Given the description of an element on the screen output the (x, y) to click on. 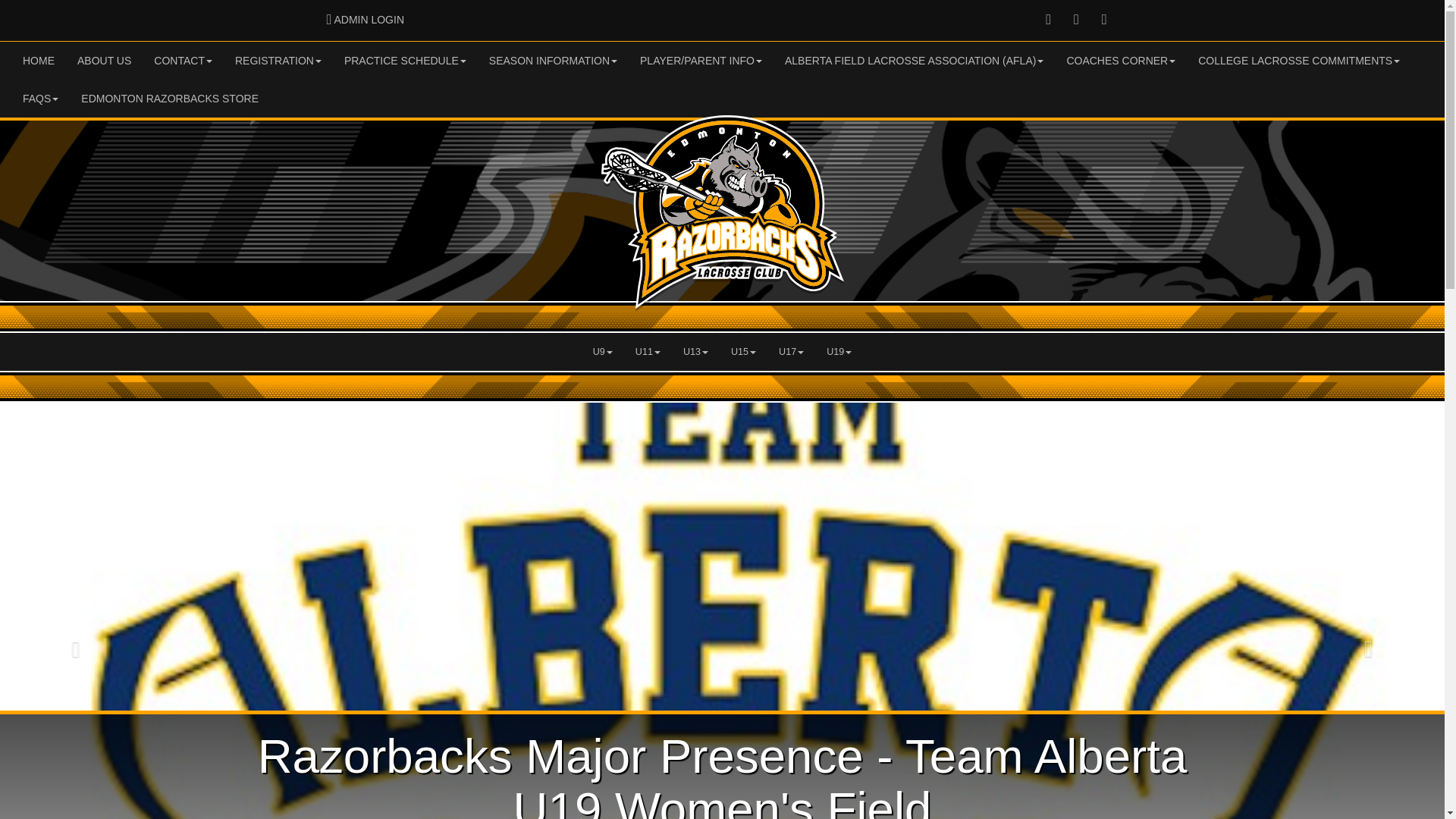
COACHES CORNER (1120, 60)
Facebook (365, 20)
REGISTRATION (1048, 20)
CONTACT (278, 60)
Twitter (183, 60)
ABOUT US (1076, 20)
PRACTICE SCHEDULE (103, 60)
HOME (405, 60)
Instagram (38, 60)
SEASON INFORMATION (1104, 20)
